Given the description of an element on the screen output the (x, y) to click on. 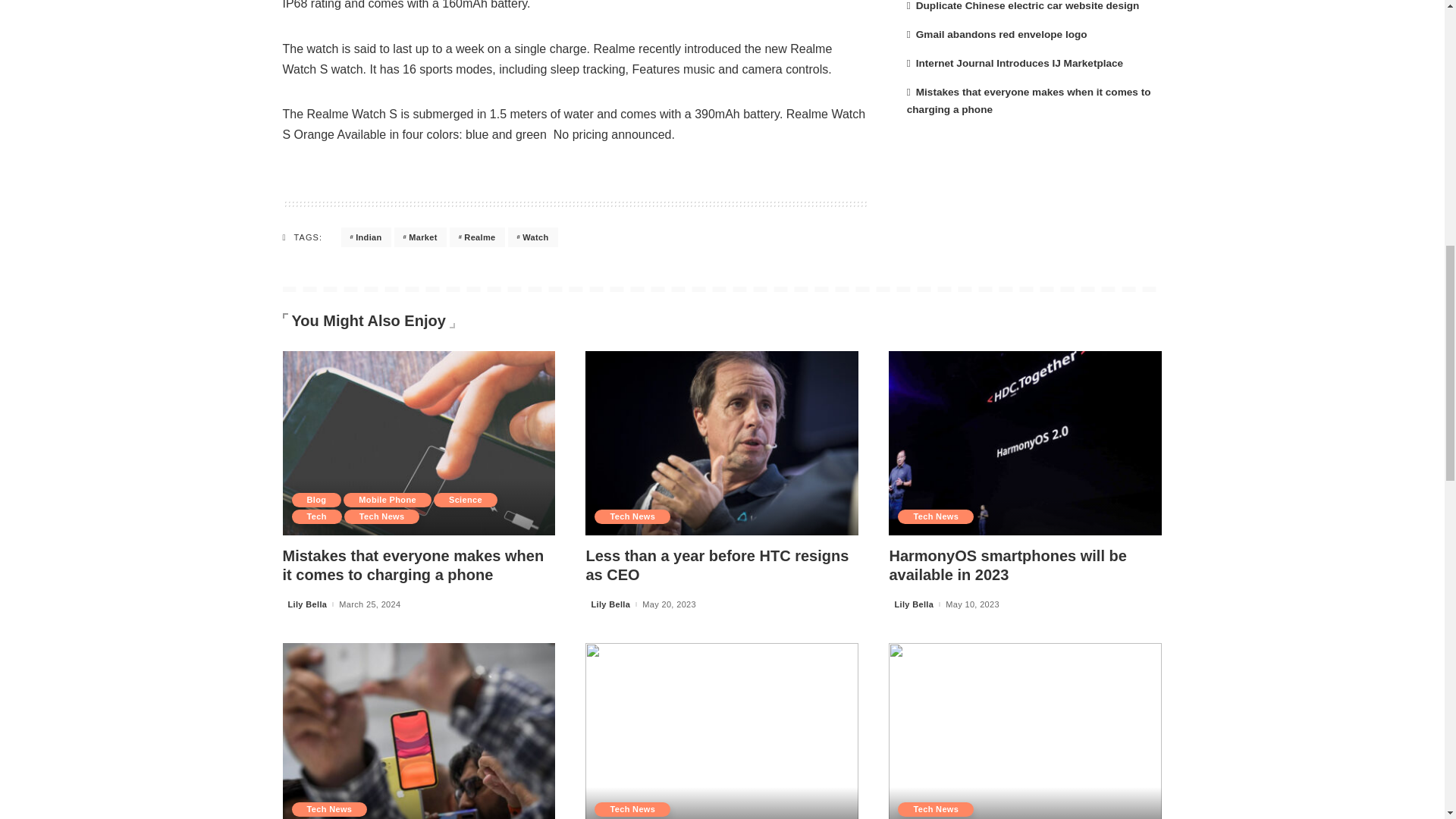
HarmonyOS smartphones will be available in 2023 (1024, 443)
Watch (532, 237)
Realme (477, 237)
Less than a year before HTC resigns as CEO (722, 443)
Watch (532, 237)
Less than a year before HTC resigns as CEO (716, 565)
Indian (365, 237)
Market (420, 237)
Realme (477, 237)
Market (420, 237)
Indian (365, 237)
